Given the description of an element on the screen output the (x, y) to click on. 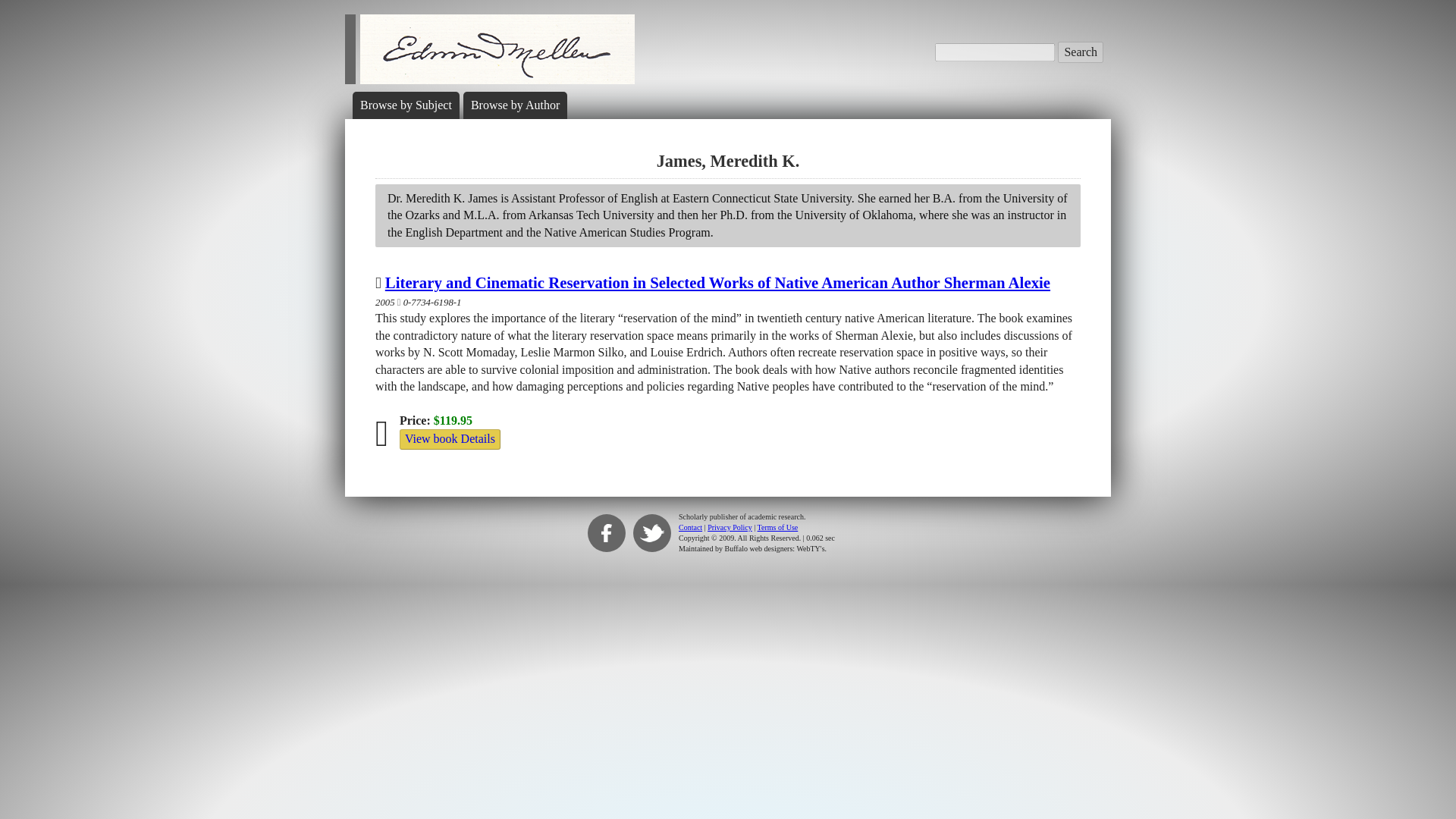
Browse by Author (514, 105)
Contact (689, 527)
Browse by Subject (405, 105)
View book Details (449, 438)
Privacy Policy (729, 527)
View book Details (449, 438)
Terms of Use (777, 527)
Buffalo web designers: WebTY's (775, 548)
Search (1080, 52)
